Given the description of an element on the screen output the (x, y) to click on. 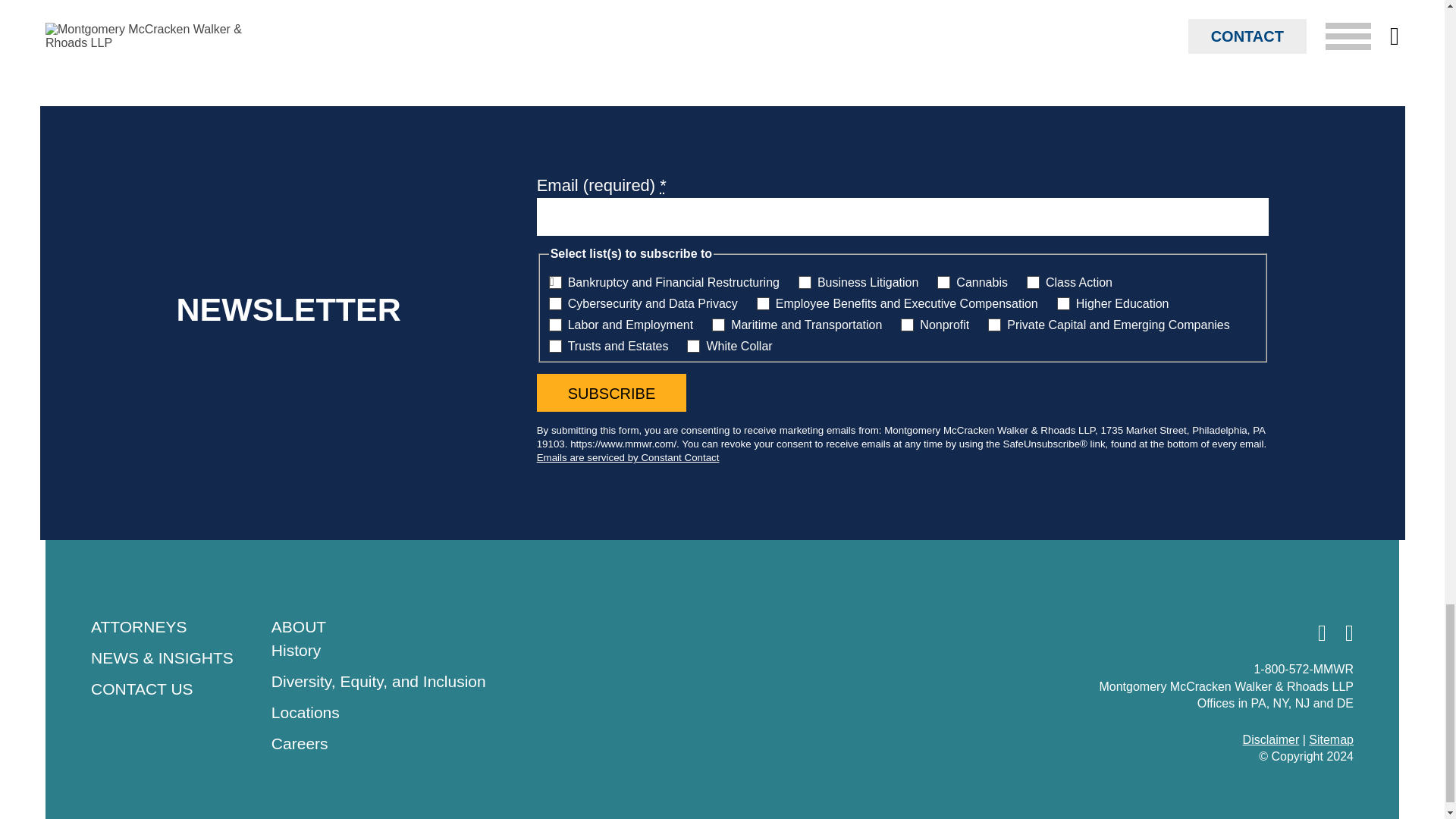
Emails are serviced by Constant Contact (628, 457)
ATTORNEYS (138, 626)
Sitemap (1331, 739)
ABOUT (298, 626)
CONTACT US (141, 688)
Disclaimer (1271, 739)
Subscribe (612, 392)
Subscribe (612, 392)
Careers (299, 743)
Locations (304, 712)
